Given the description of an element on the screen output the (x, y) to click on. 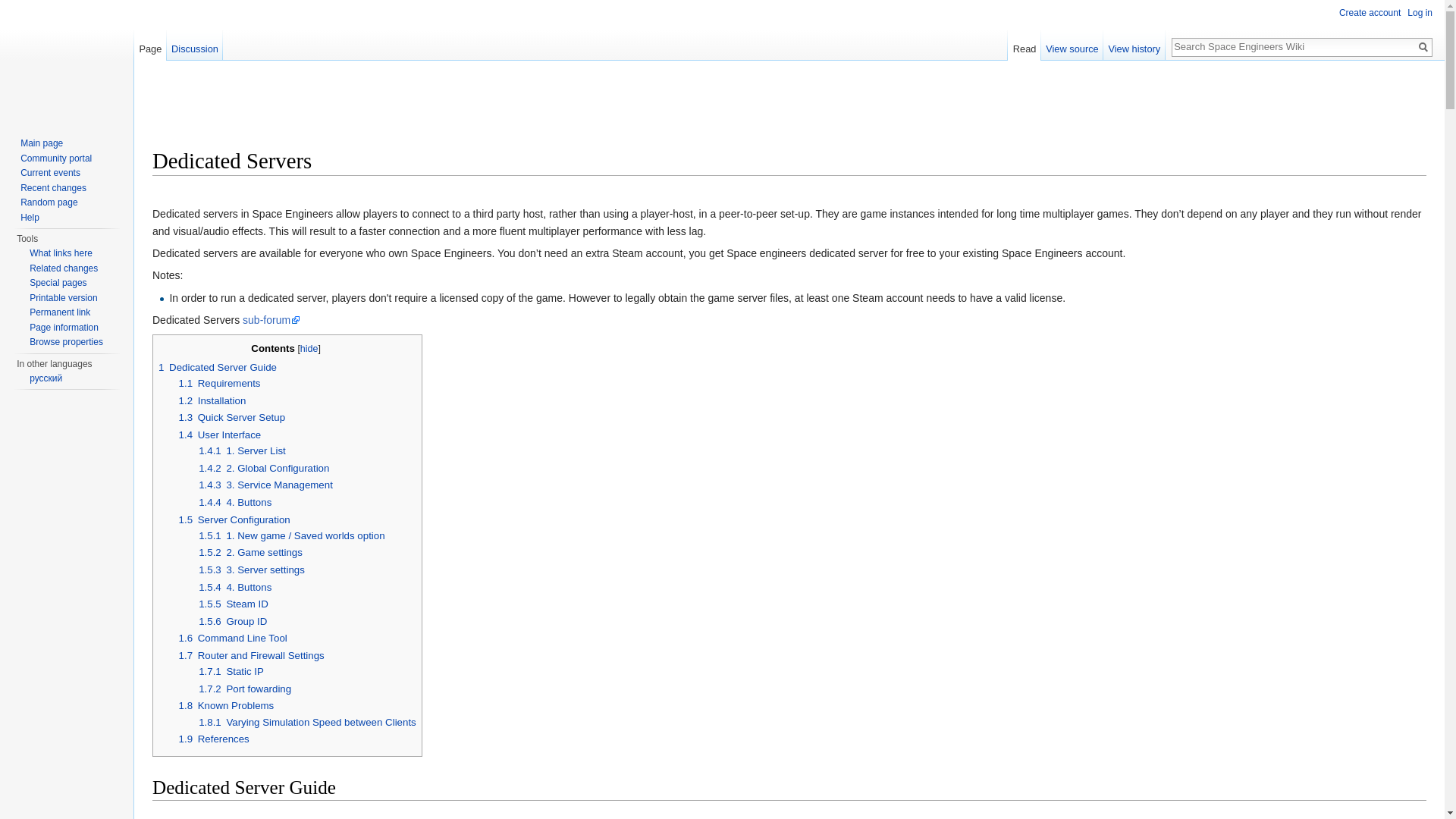
1.2 Installation (212, 400)
Go (1423, 46)
1.4 User Interface (220, 434)
Find background information on current events (50, 172)
1.8 Known Problems (227, 705)
1.9 References (213, 738)
1.5.4 4. Buttons (234, 586)
1.5.2 2. Game settings (250, 552)
1.4.2 2. Global Configuration (263, 468)
1.5.3 3. Server settings (251, 569)
Advertisement (428, 110)
1 Dedicated Server Guide (217, 367)
1.4.3 3. Service Management (265, 484)
hide (308, 348)
1.6 Command Line Tool (232, 637)
